Given the description of an element on the screen output the (x, y) to click on. 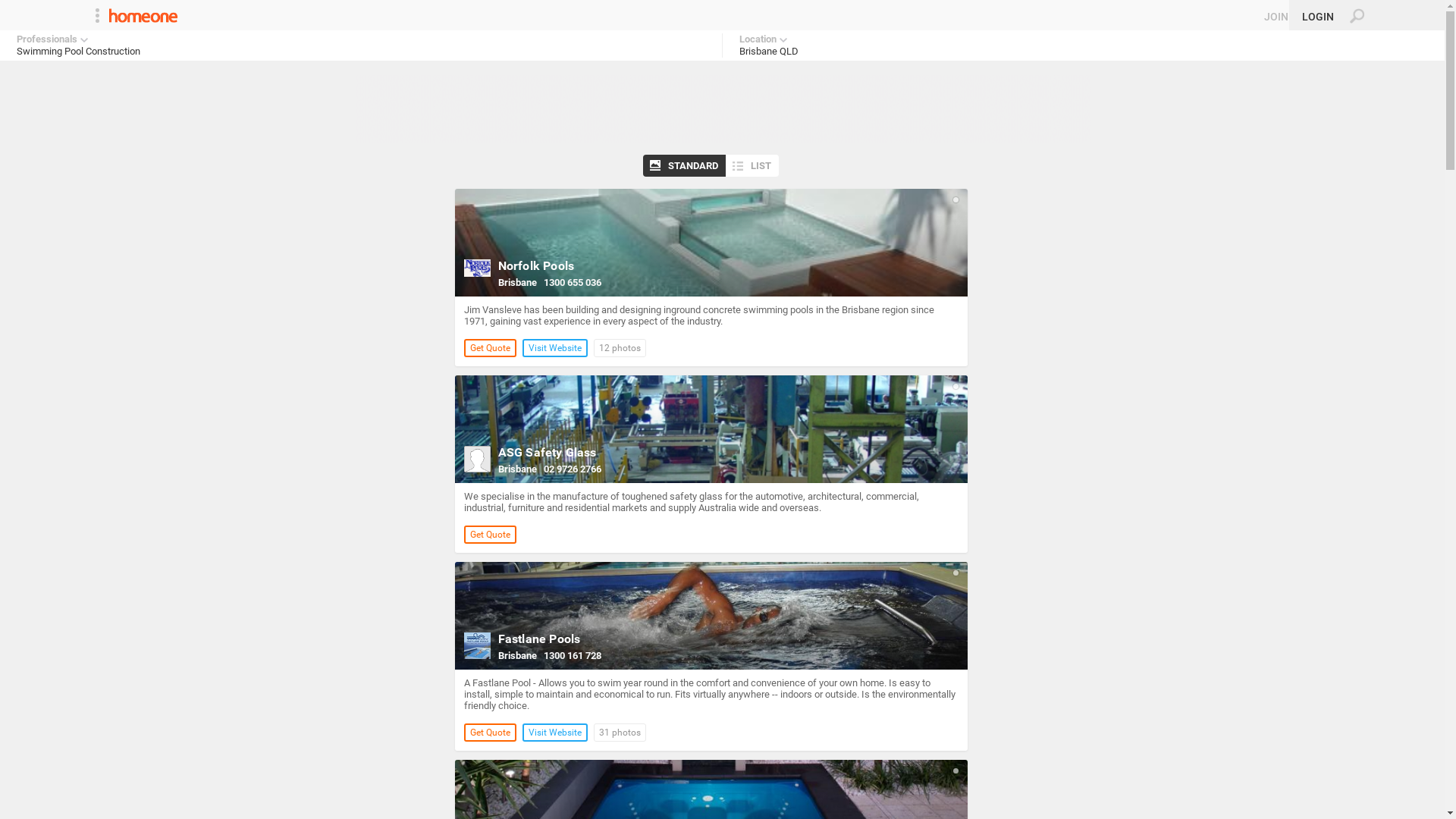
3rd party ad content Element type: hover (722, 108)
1300 655 036 Element type: text (571, 282)
12 photos Element type: text (619, 347)
02 9726 2766 Element type: text (571, 468)
1300 161 728 Element type: text (571, 655)
31 photos Element type: text (619, 732)
Fastlane Pools Element type: text (538, 638)
Norfolk Pools Element type: text (535, 265)
Visit Website Element type: text (553, 347)
ASG Safety Glass Element type: text (546, 452)
Visit Website Element type: text (553, 732)
